Given the description of an element on the screen output the (x, y) to click on. 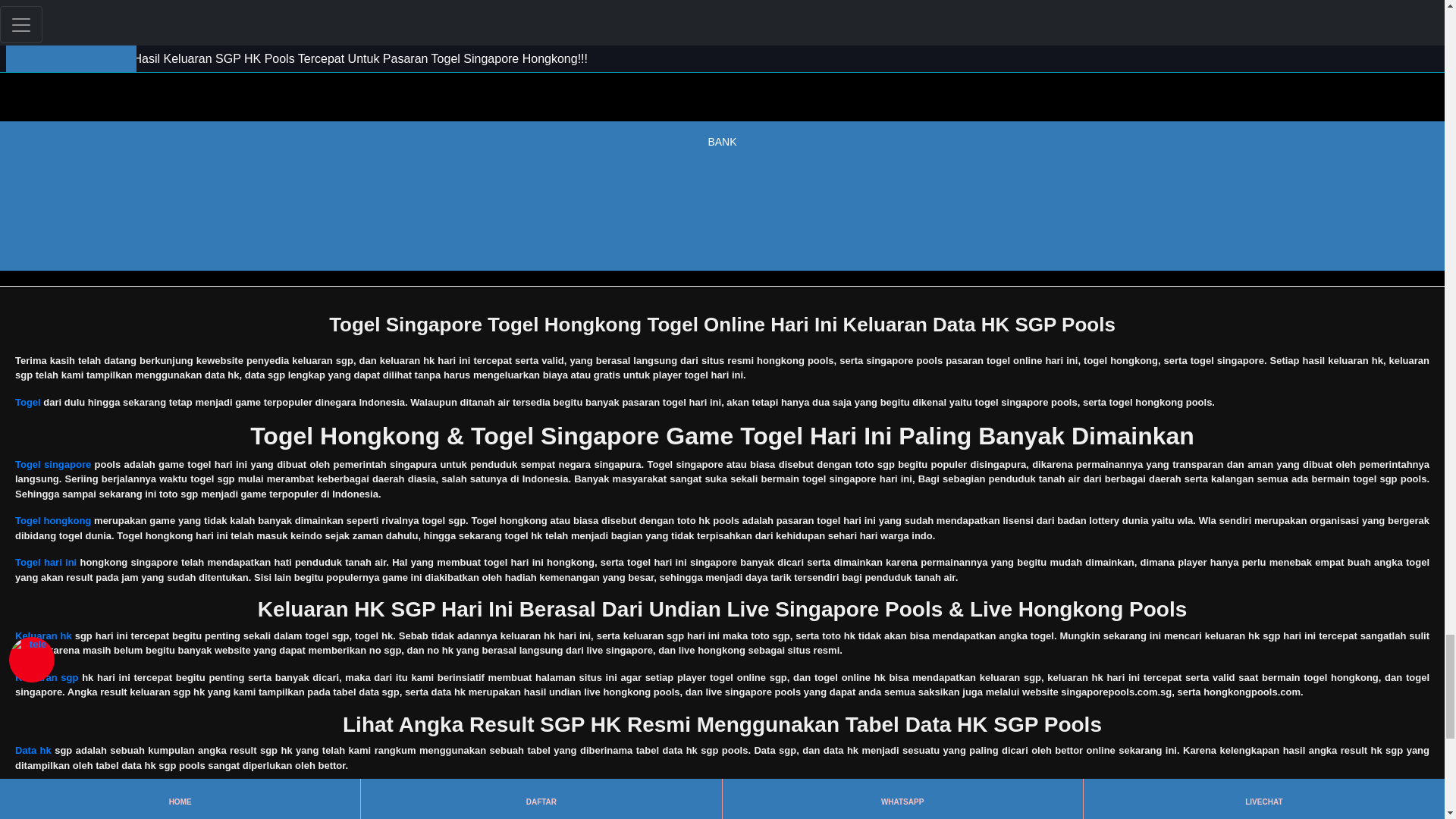
Data sgp (35, 791)
Togel (27, 401)
Keluaran sgp (46, 677)
Data hk (32, 749)
Togel hari ini (45, 562)
Keluaran hk (42, 635)
Togel singapore (52, 464)
Togel hongkong (52, 520)
